Given the description of an element on the screen output the (x, y) to click on. 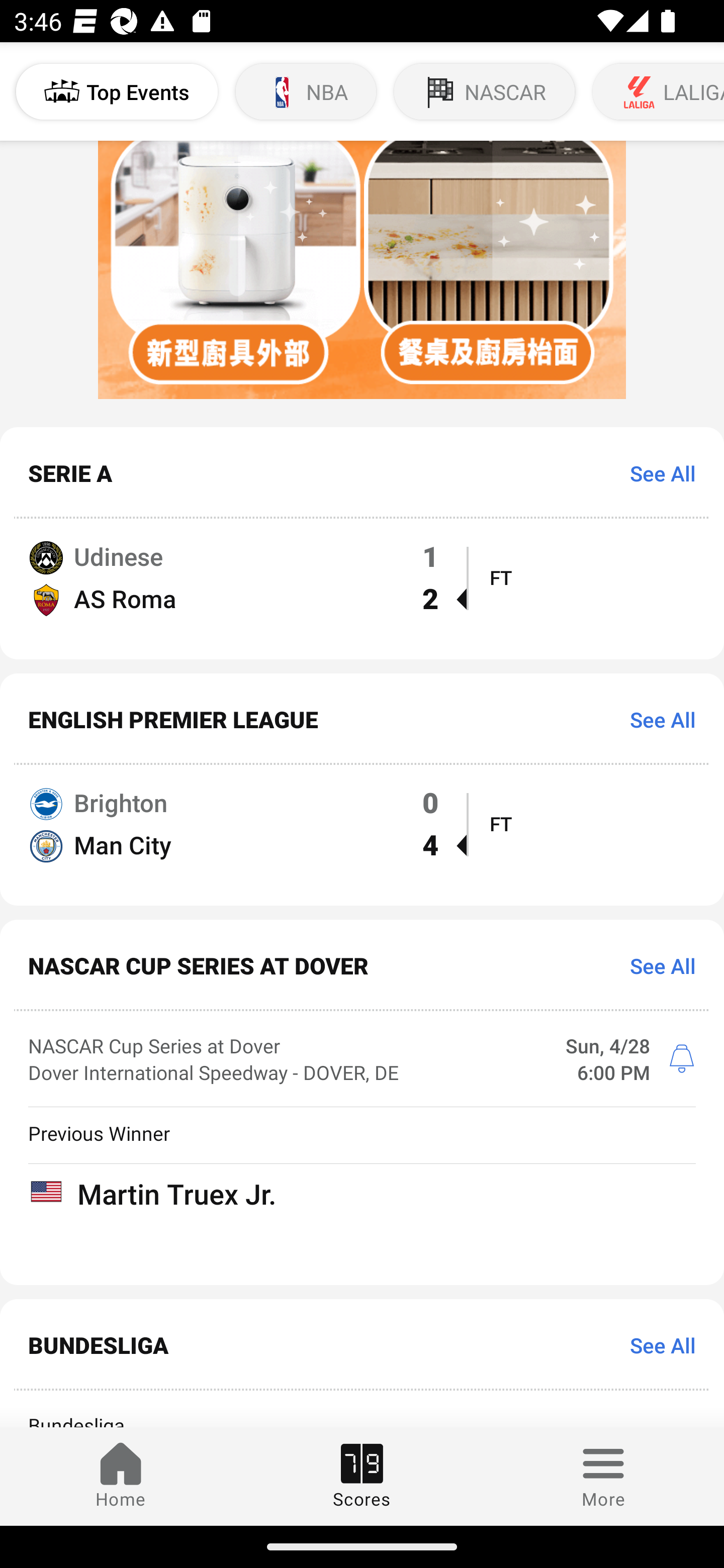
 Top Events (116, 91)
NBA (305, 91)
NASCAR (484, 91)
LALIGA (656, 91)
SERIE A See All (362, 472)
See All (655, 473)
Udinese 1 AS Roma 2  FT (362, 589)
ENGLISH PREMIER LEAGUE See All (362, 718)
See All (655, 719)
Brighton 0 Man City 4  FT (362, 835)
NASCAR CUP SERIES AT DOVER See All (362, 965)
See All (655, 965)
í (681, 1058)
BUNDESLIGA See All (362, 1344)
See All (655, 1345)
Home (120, 1475)
More (603, 1475)
